Given the description of an element on the screen output the (x, y) to click on. 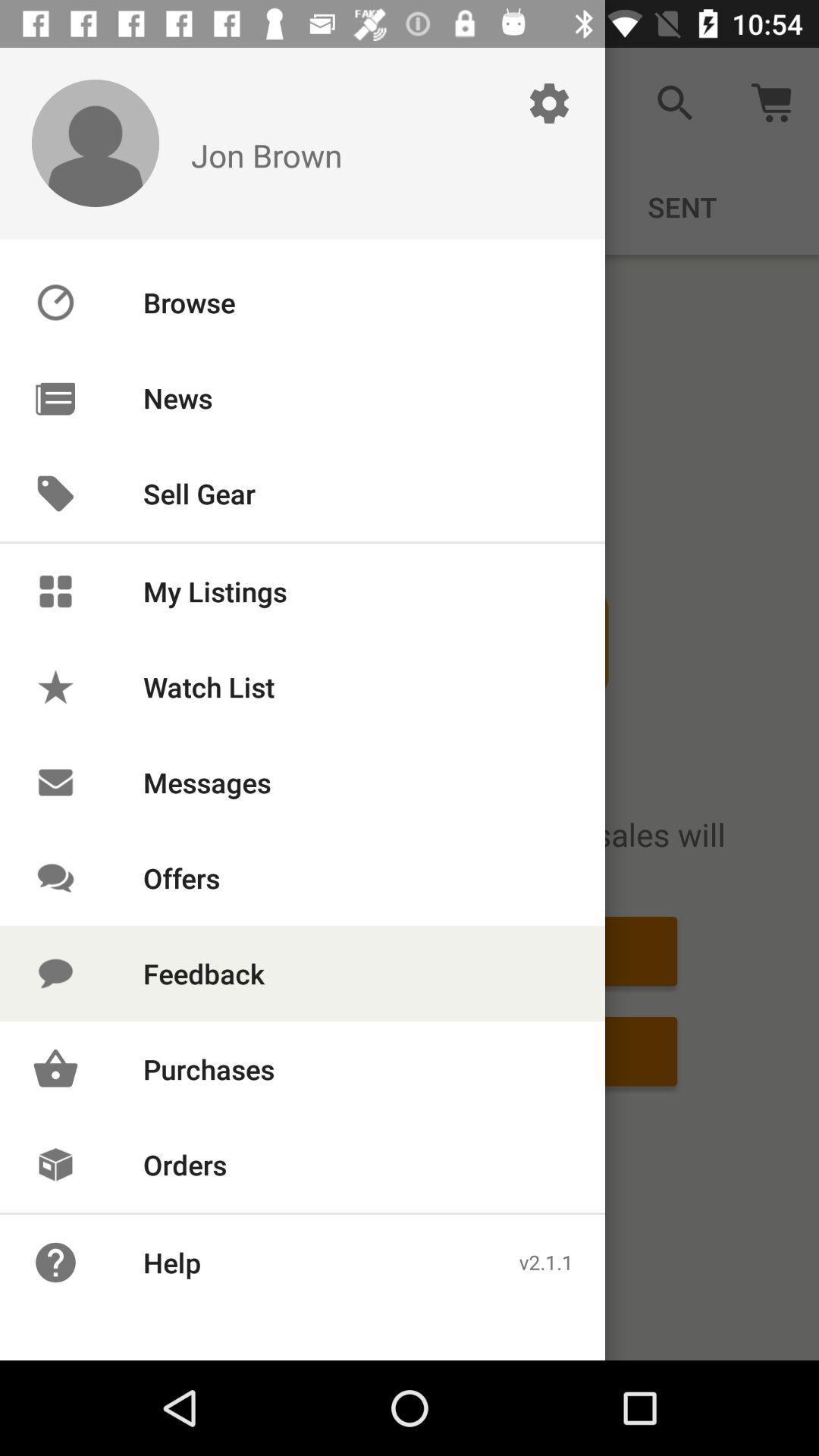
click on the star icon (55, 687)
